Given the description of an element on the screen output the (x, y) to click on. 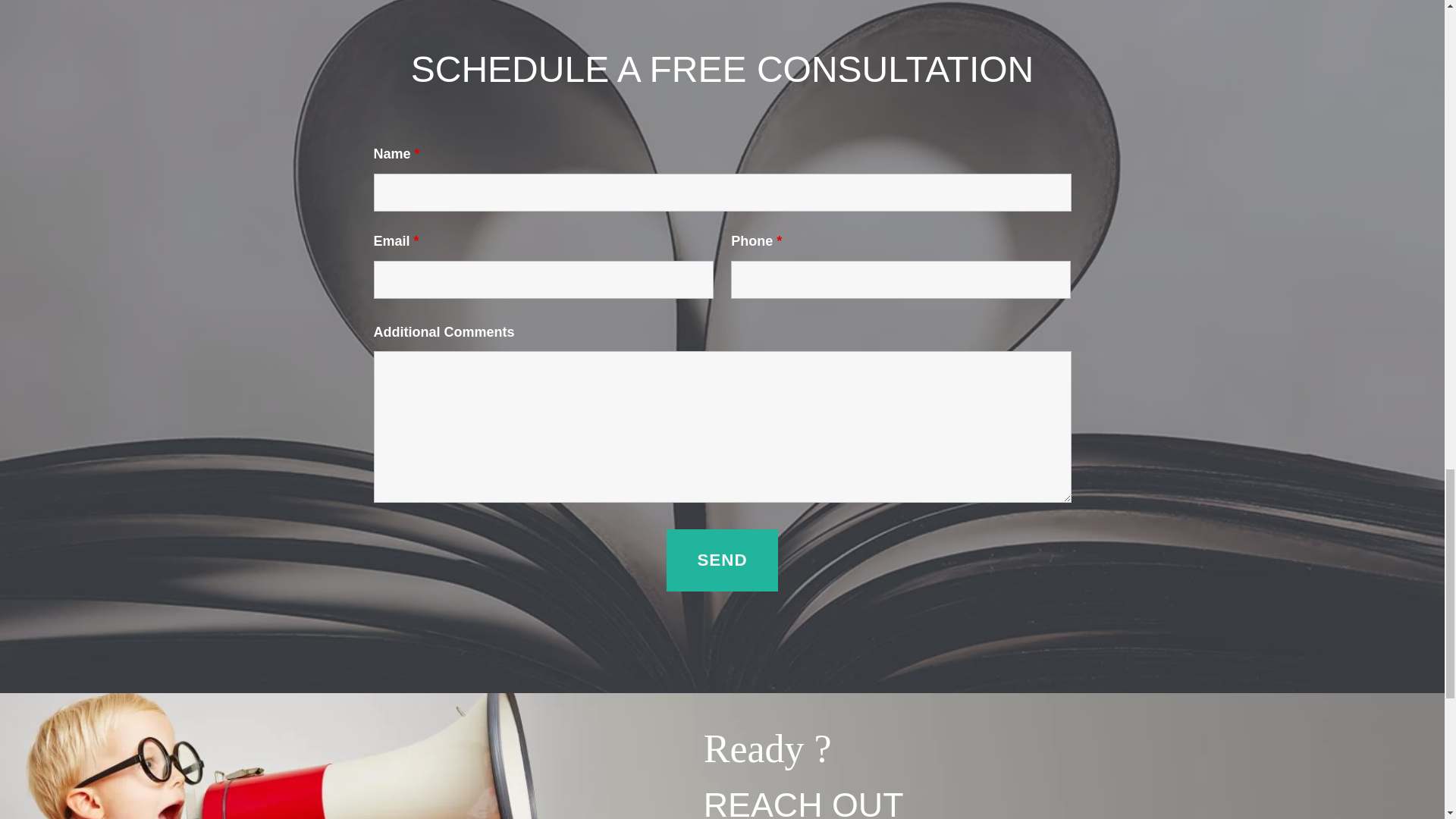
SEND (721, 560)
